Given the description of an element on the screen output the (x, y) to click on. 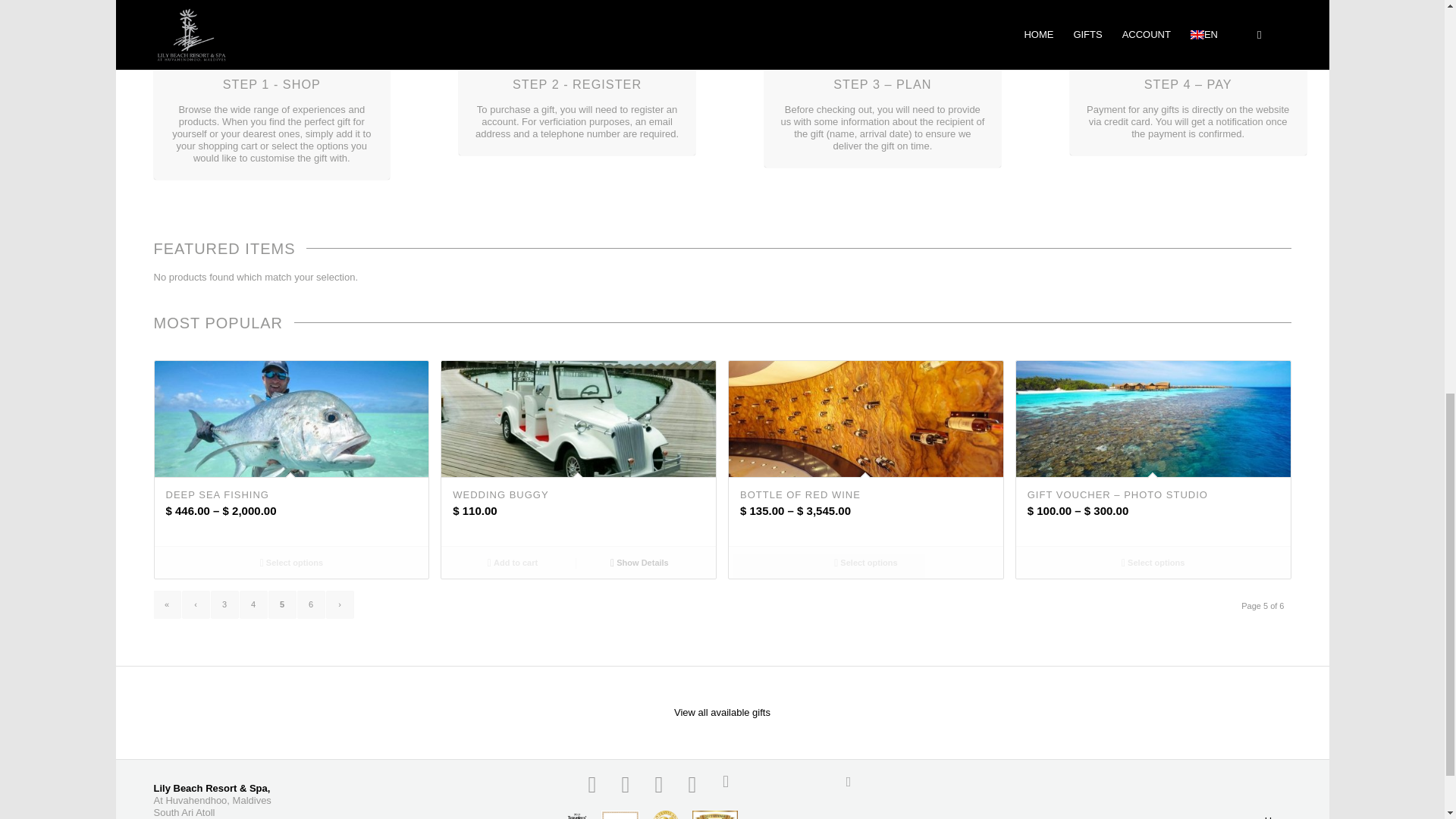
VK (759, 784)
Facebook (592, 784)
Instagram (658, 784)
View all available gifts (722, 712)
Show Details (639, 562)
Add to cart (511, 562)
3 (224, 604)
Twitter (625, 784)
6 (310, 604)
Select options (291, 562)
